Given the description of an element on the screen output the (x, y) to click on. 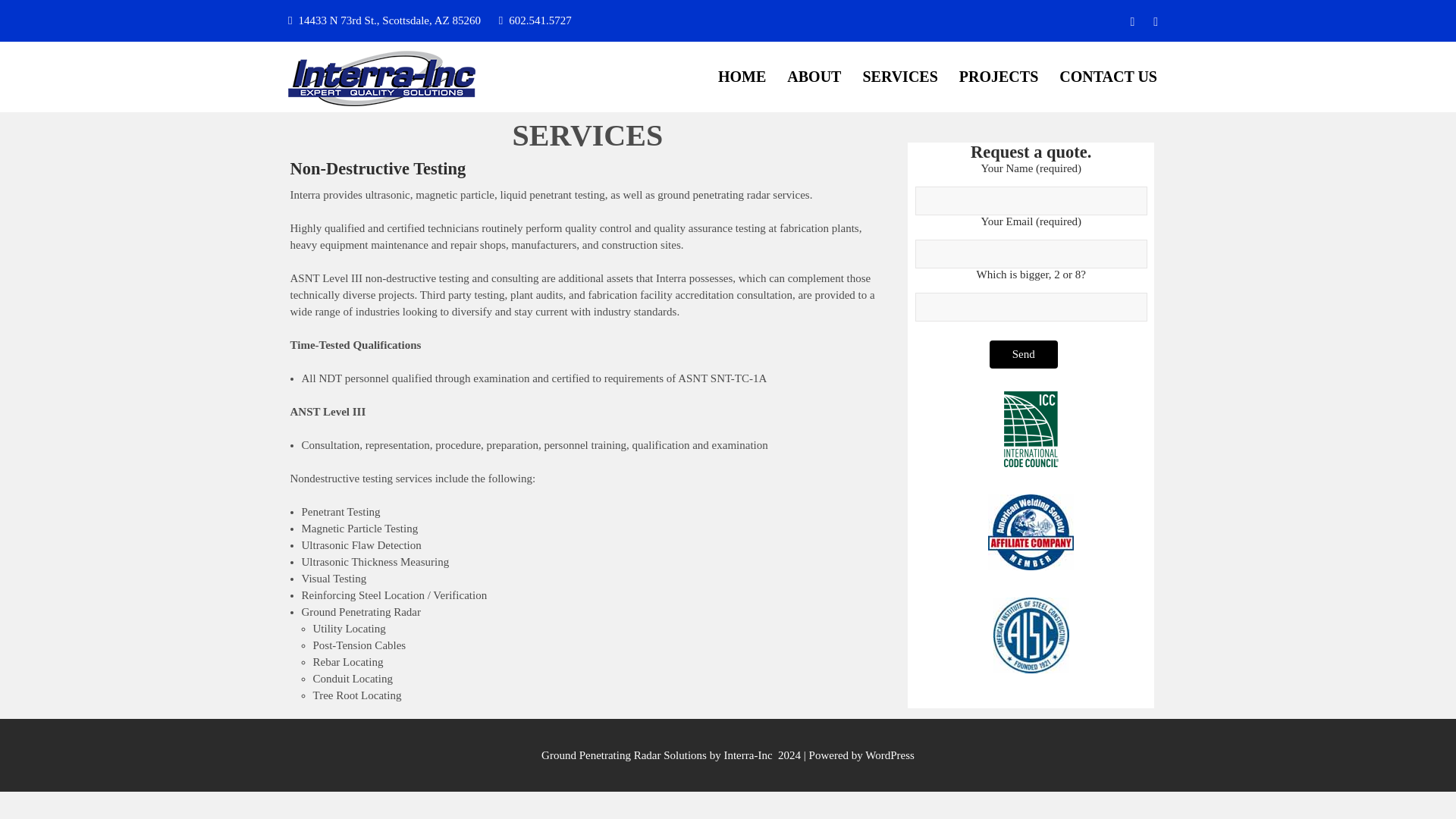
Send (1024, 354)
CONTACT US (1107, 76)
Send (1024, 354)
Interra-Inc (360, 128)
PROJECTS (998, 76)
ABOUT (813, 76)
HOME (741, 76)
SERVICES (899, 76)
